Given the description of an element on the screen output the (x, y) to click on. 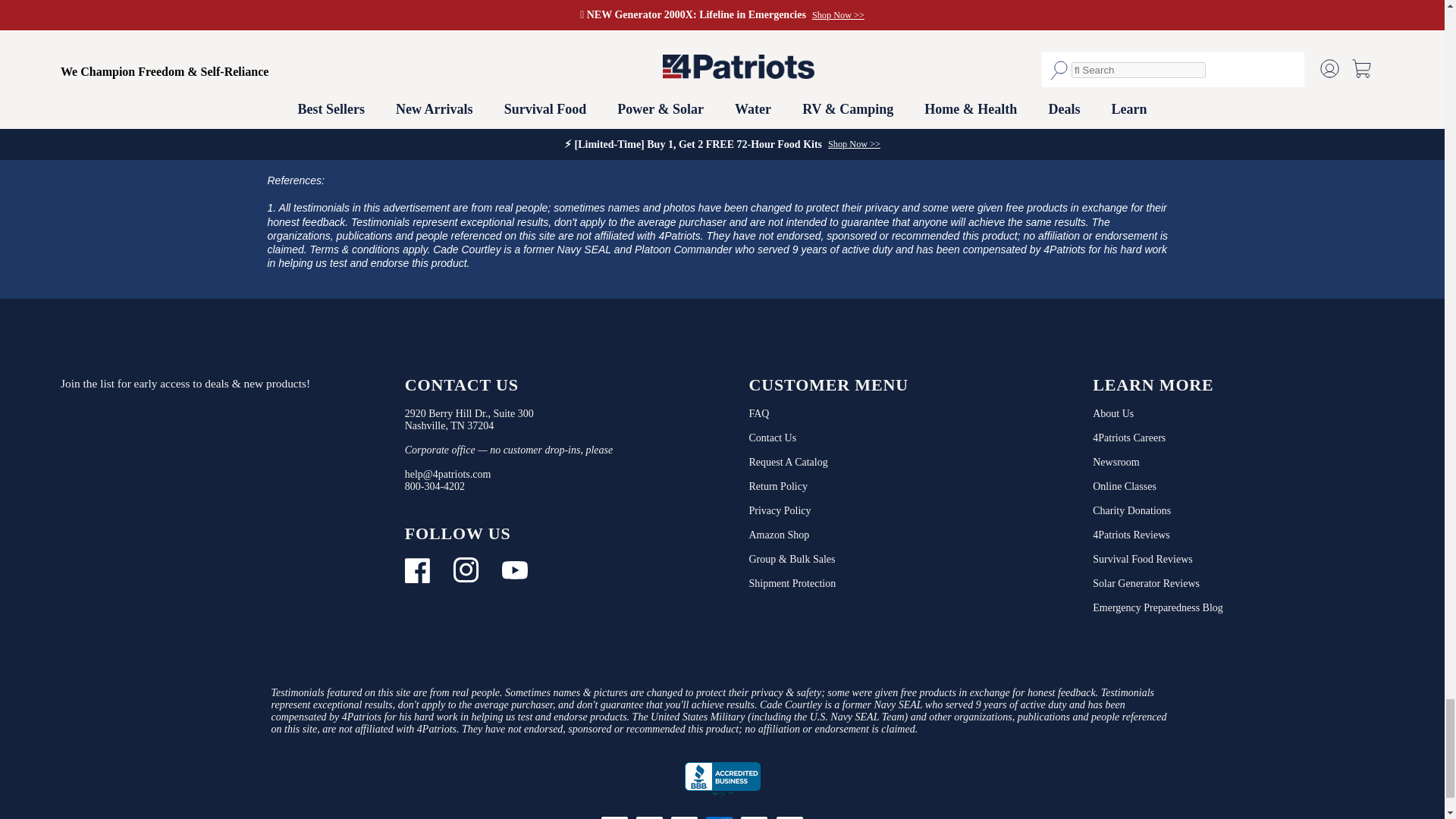
4Patriots customer support (434, 486)
Shop Pay (826, 816)
4Patriots, LLC., Online Retailer, Nashville, TN (722, 779)
